Given the description of an element on the screen output the (x, y) to click on. 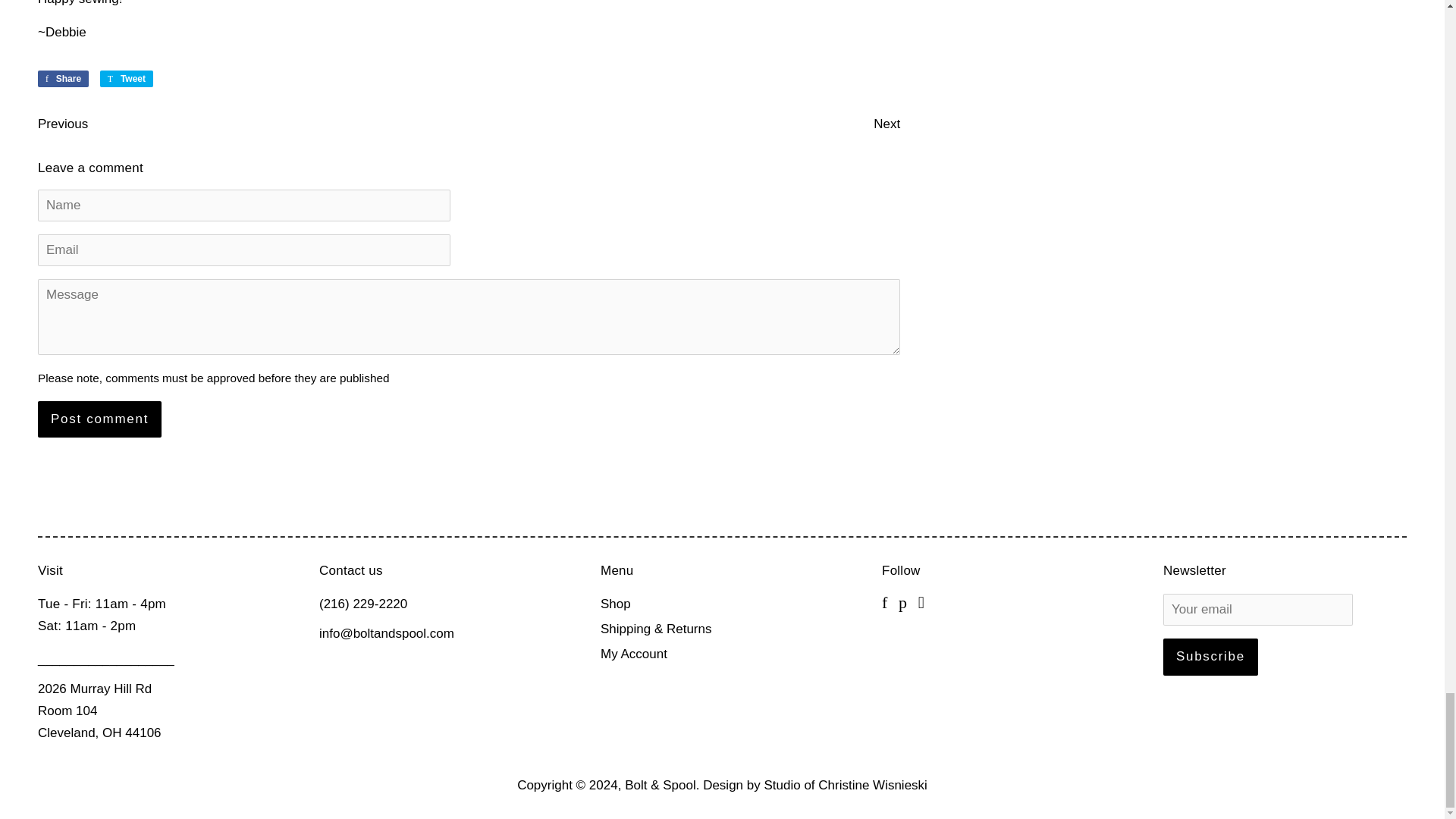
Post comment (99, 419)
Share on Facebook (62, 78)
Subscribe (1210, 656)
Tweet on Twitter (126, 78)
